Given the description of an element on the screen output the (x, y) to click on. 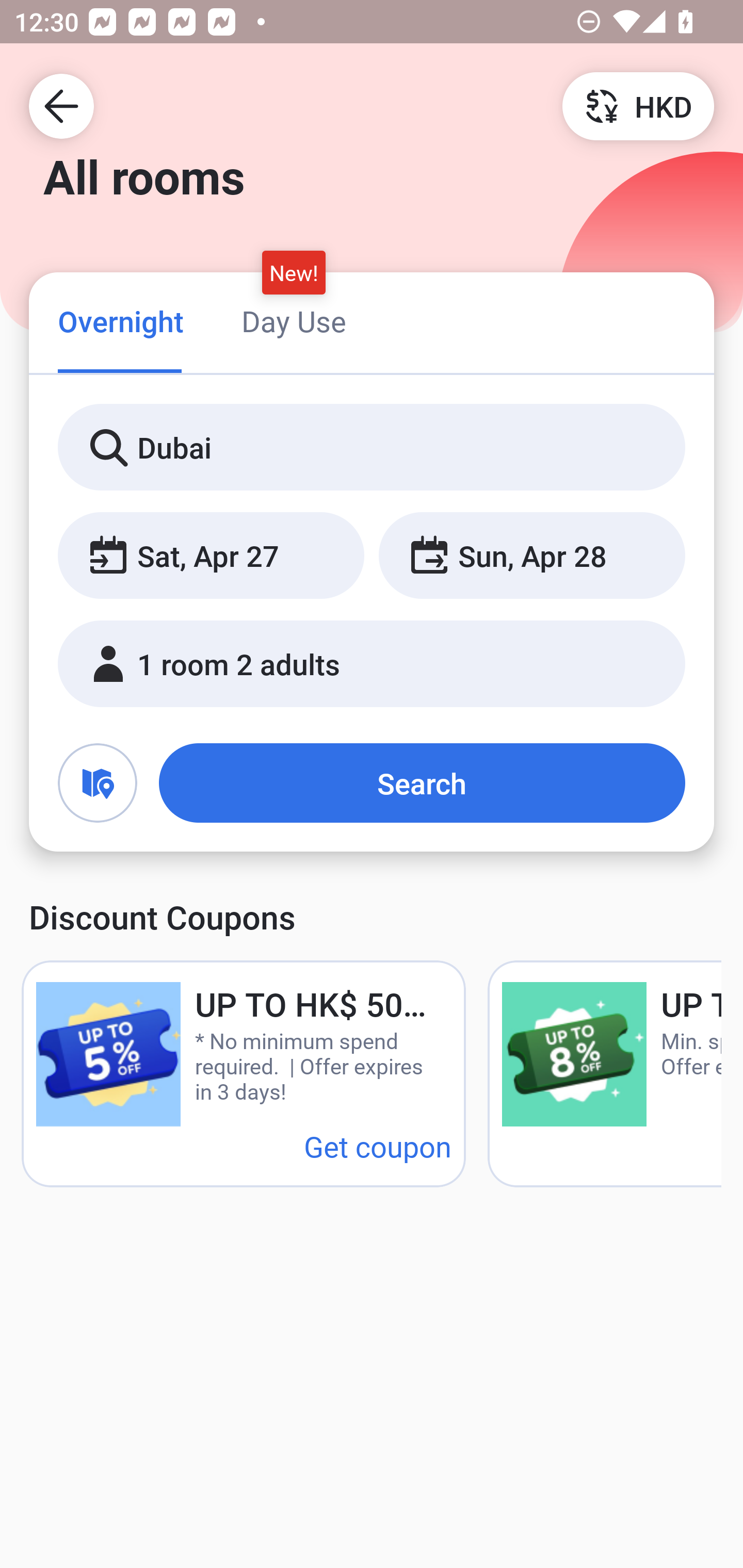
HKD (638, 105)
New! (294, 272)
Day Use (293, 321)
Dubai (371, 447)
Sat, Apr 27 (210, 555)
Sun, Apr 28 (531, 555)
1 room 2 adults (371, 663)
Search (422, 783)
Get coupon (377, 1146)
